Given the description of an element on the screen output the (x, y) to click on. 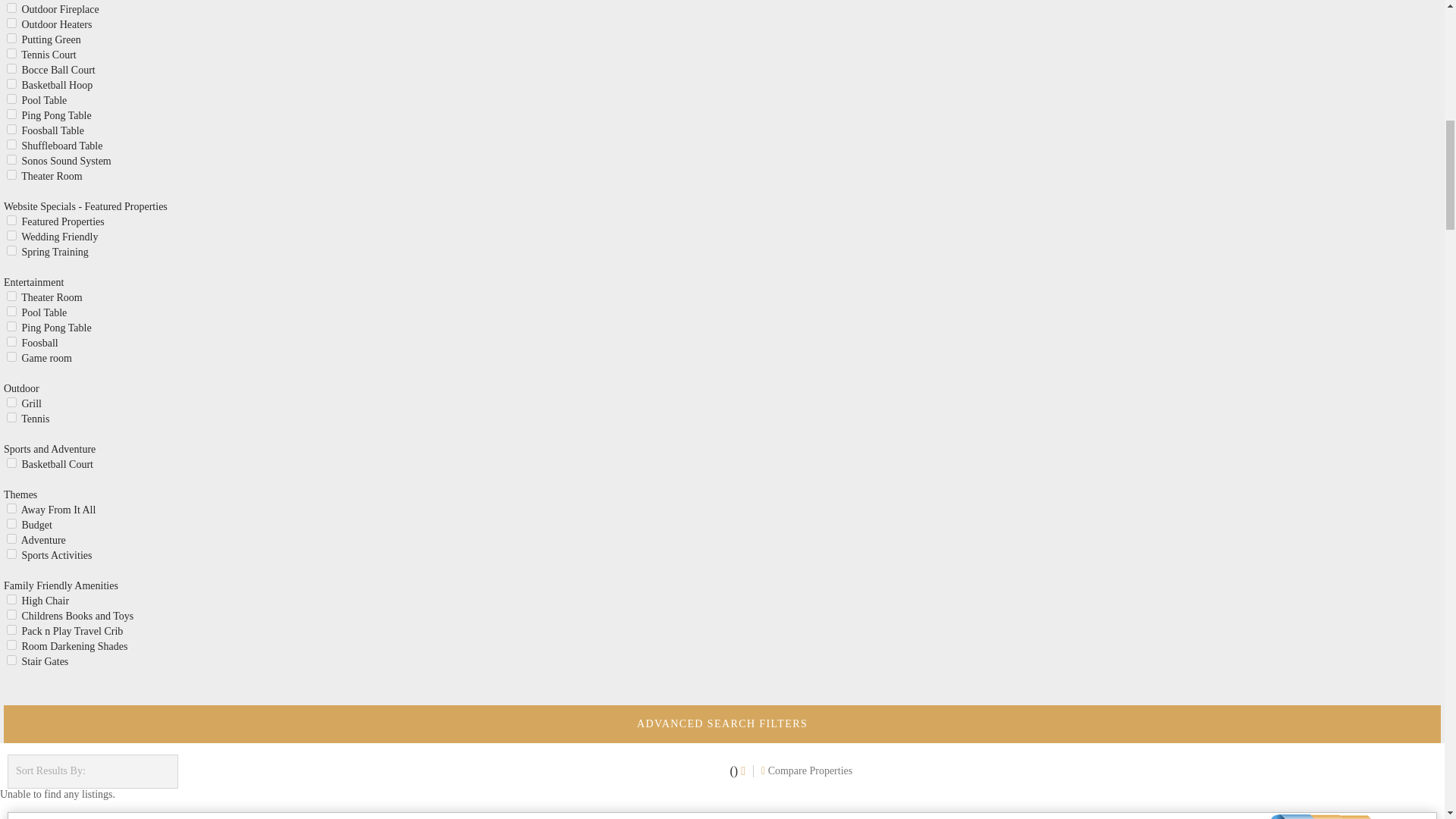
on (11, 68)
on (11, 129)
on (11, 38)
on (11, 144)
on (11, 8)
on (11, 159)
on (11, 83)
on (11, 113)
on (11, 22)
on (11, 53)
on (11, 99)
